Given the description of an element on the screen output the (x, y) to click on. 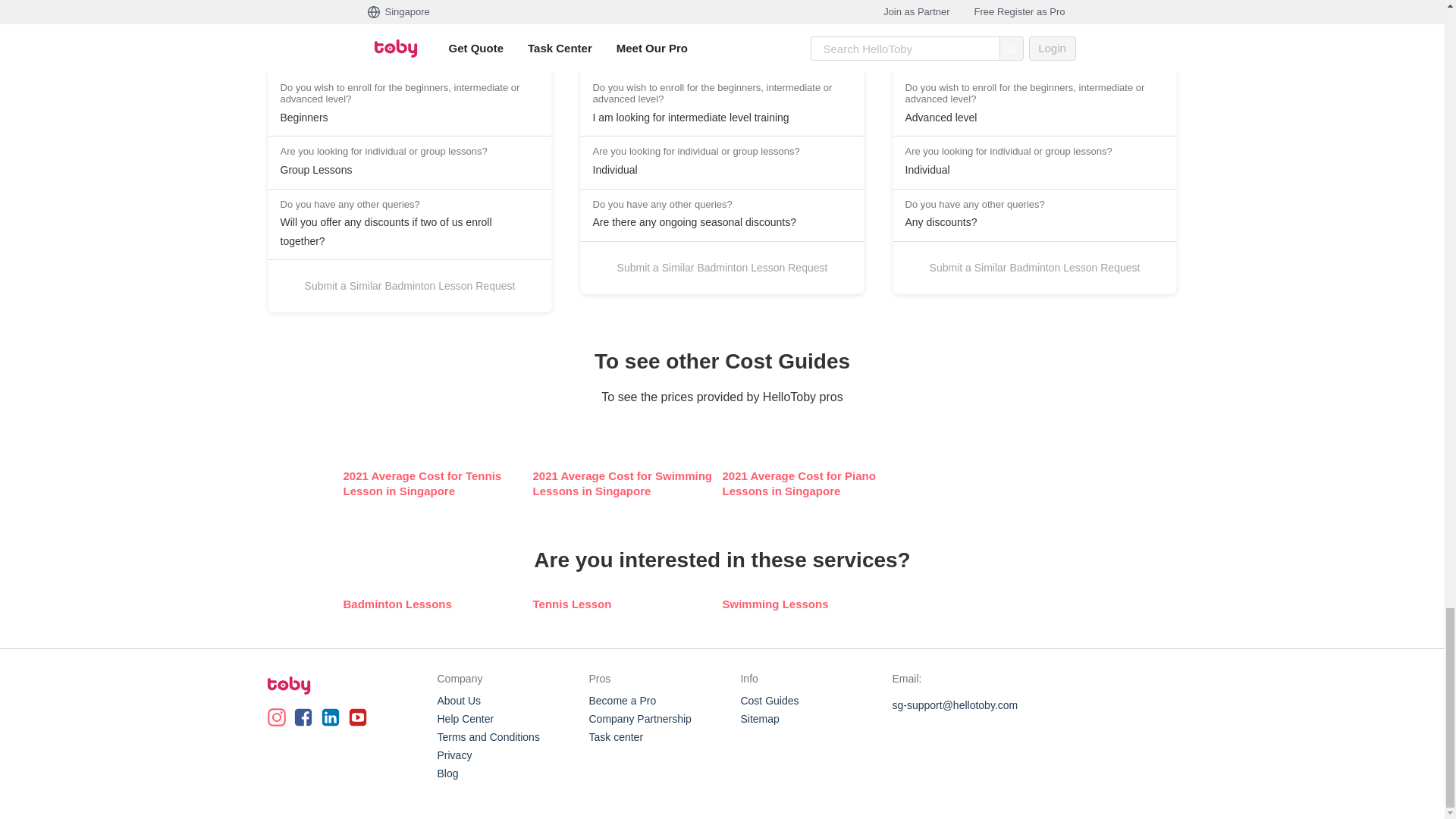
Swimming Lessons (816, 604)
Company Partnership (639, 719)
2021 Average Cost for Swimming Lessons in Singapore (627, 483)
Task center (615, 737)
Badminton Lessons (437, 604)
Submit a Similar Badminton Lesson Request (409, 285)
Help Center (464, 719)
Sitemap (758, 719)
Blog (447, 773)
Become a Pro (622, 700)
2021 Average Cost for Piano Lessons in Singapore (816, 483)
Terms and Conditions (487, 737)
Submit a Similar Badminton Lesson Request (1035, 267)
2021 Average Cost for Tennis Lesson in Singapore (437, 483)
Privacy (453, 755)
